Given the description of an element on the screen output the (x, y) to click on. 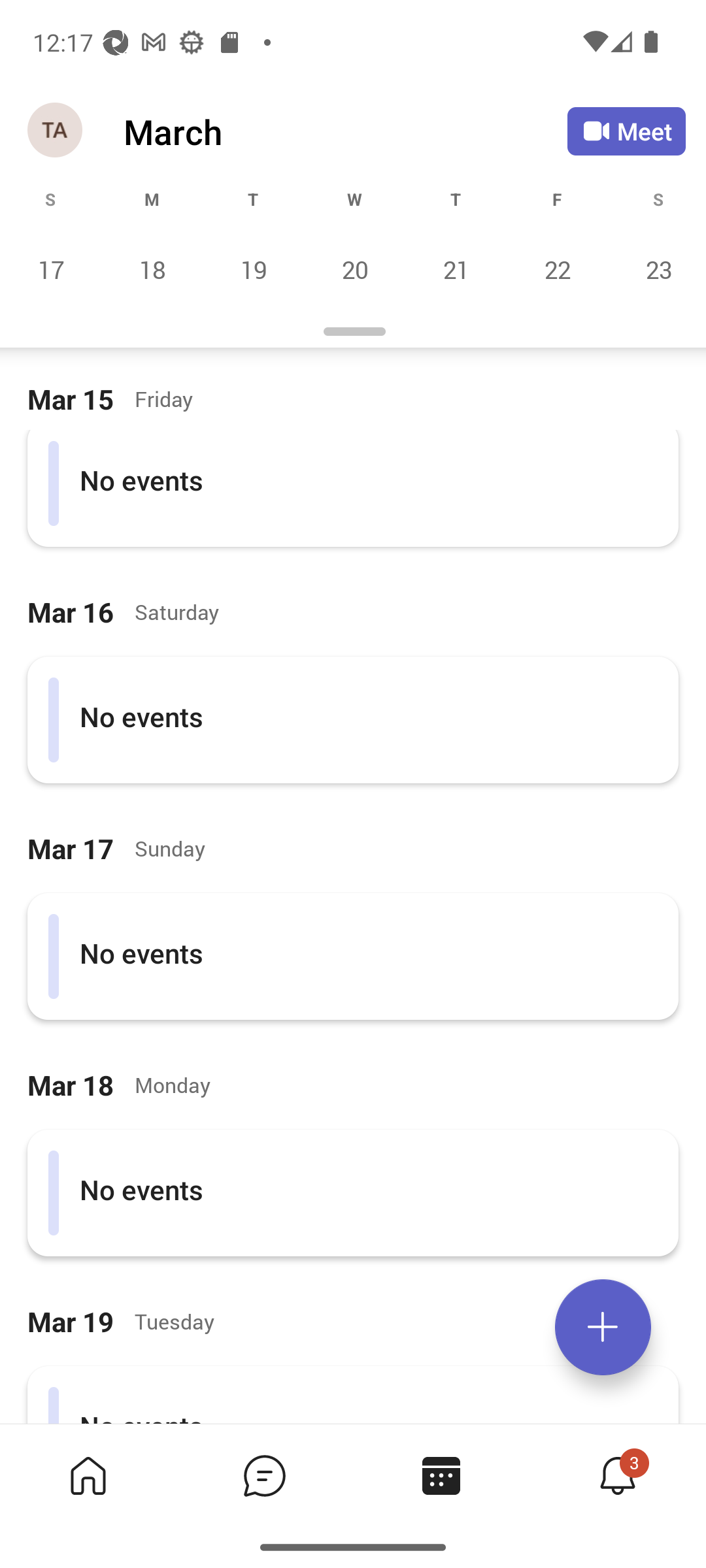
Navigation (56, 130)
Meet Meet now or join with an ID (626, 130)
March March Calendar Agenda View (345, 131)
Sunday, March 17 17 (50, 269)
Monday, March 18 18 (151, 269)
Tuesday, March 19 19 (253, 269)
Wednesday, March 20 20 (354, 269)
Thursday, March 21 21 (455, 269)
Friday, March 22 22 (556, 269)
Saturday, March 23 23 (656, 269)
Expand meetings menu (602, 1327)
Home tab,1 of 4, not selected (88, 1475)
Chat tab,2 of 4, not selected (264, 1475)
Calendar tab, 3 of 4 (441, 1475)
Activity tab,4 of 4, not selected, 3 new 3 (617, 1475)
